Given the description of an element on the screen output the (x, y) to click on. 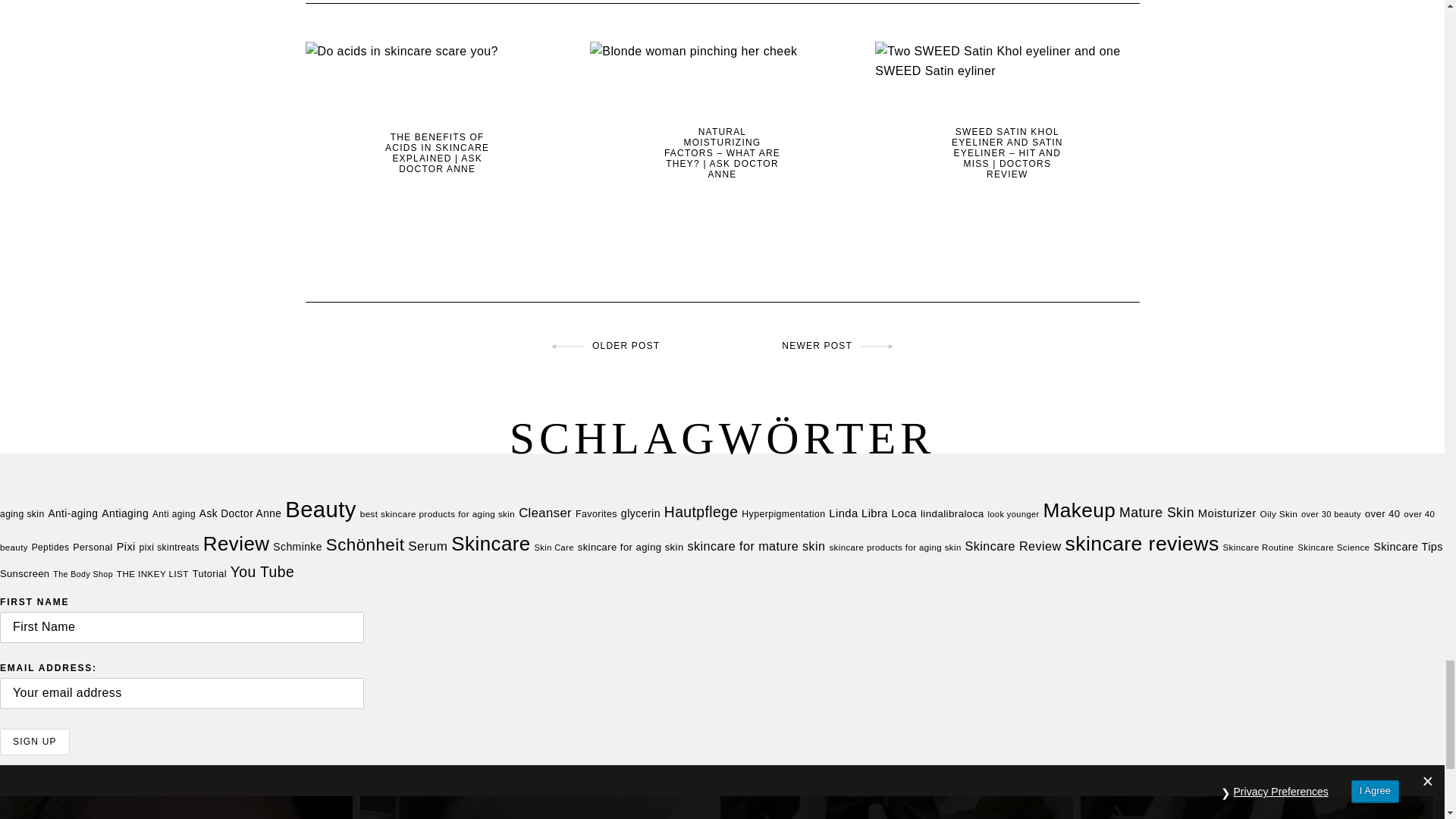
Sign up (34, 741)
